Given the description of an element on the screen output the (x, y) to click on. 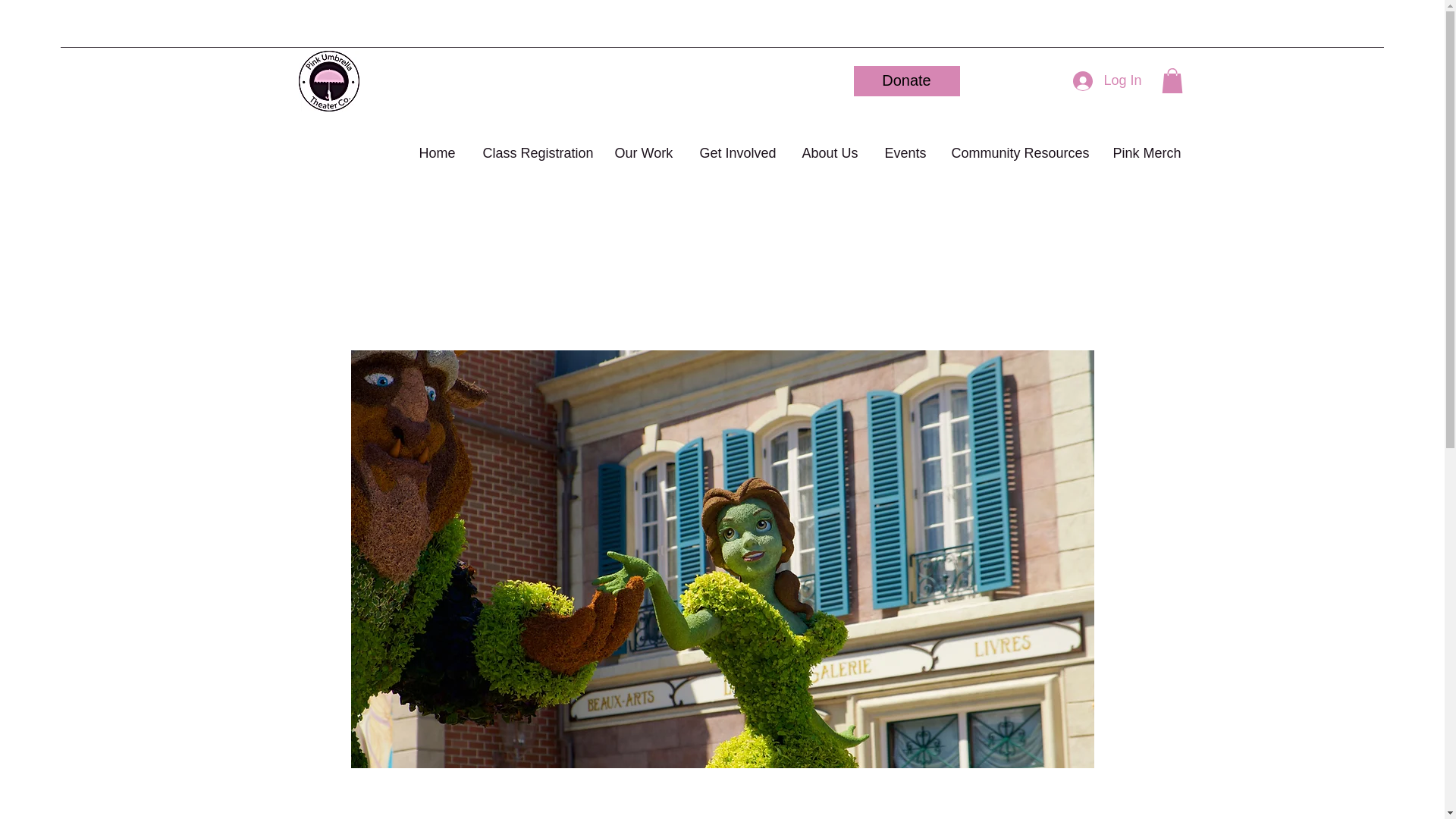
Home (436, 146)
Log In (1106, 80)
About Us (829, 146)
Events (903, 146)
Donate (906, 81)
Pink Merch (1146, 146)
Community Resources (1018, 146)
Get Involved (736, 146)
Class Registration (533, 146)
Our Work (642, 146)
